Given the description of an element on the screen output the (x, y) to click on. 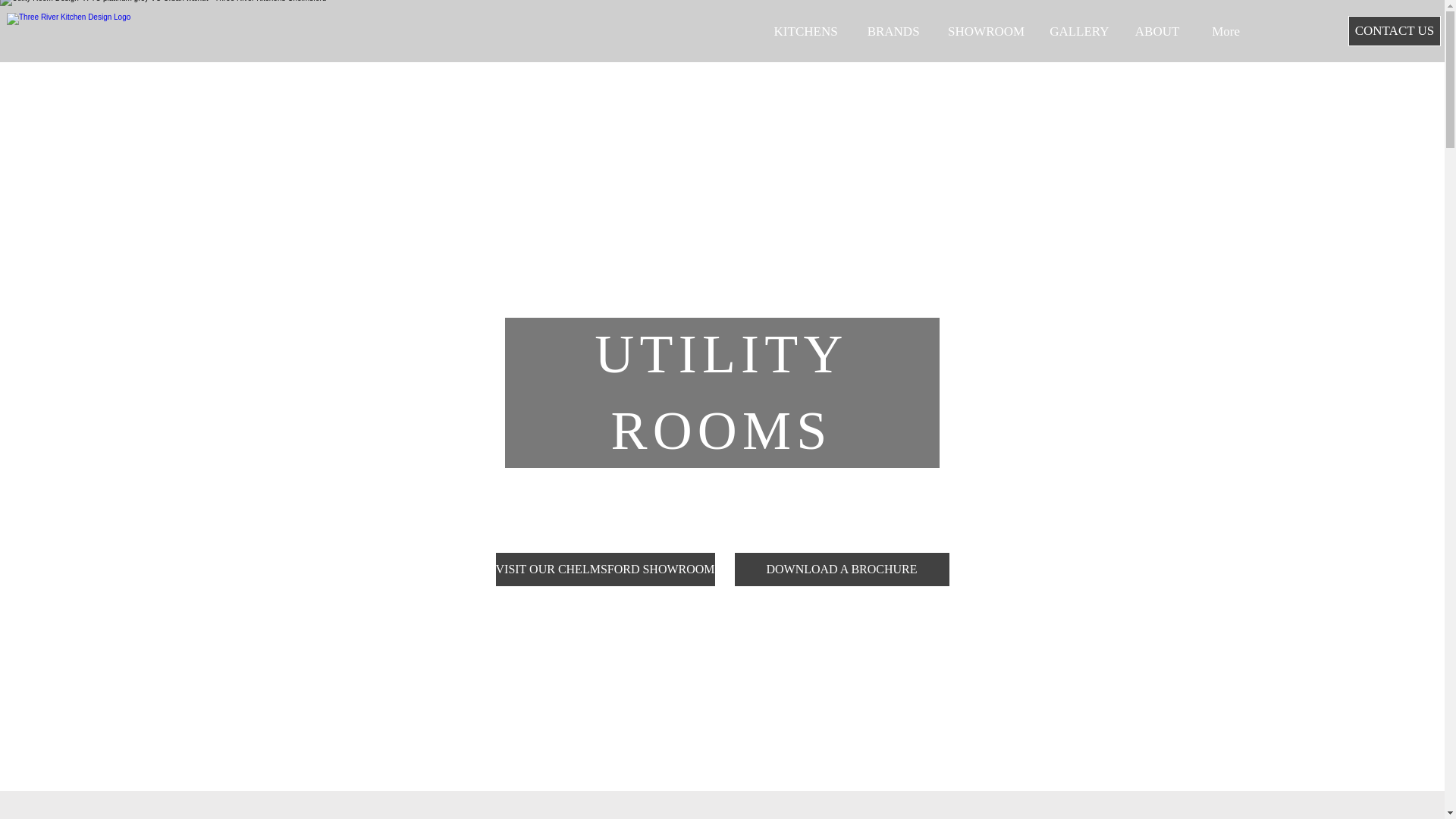
ABOUT (1156, 31)
DOWNLOAD A BROCHURE (841, 569)
GALLERY (1078, 31)
VISIT OUR CHELMSFORD SHOWROOM (604, 569)
BRANDS (892, 31)
CONTACT US (1394, 30)
SHOWROOM (986, 31)
KITCHENS (804, 31)
